Given the description of an element on the screen output the (x, y) to click on. 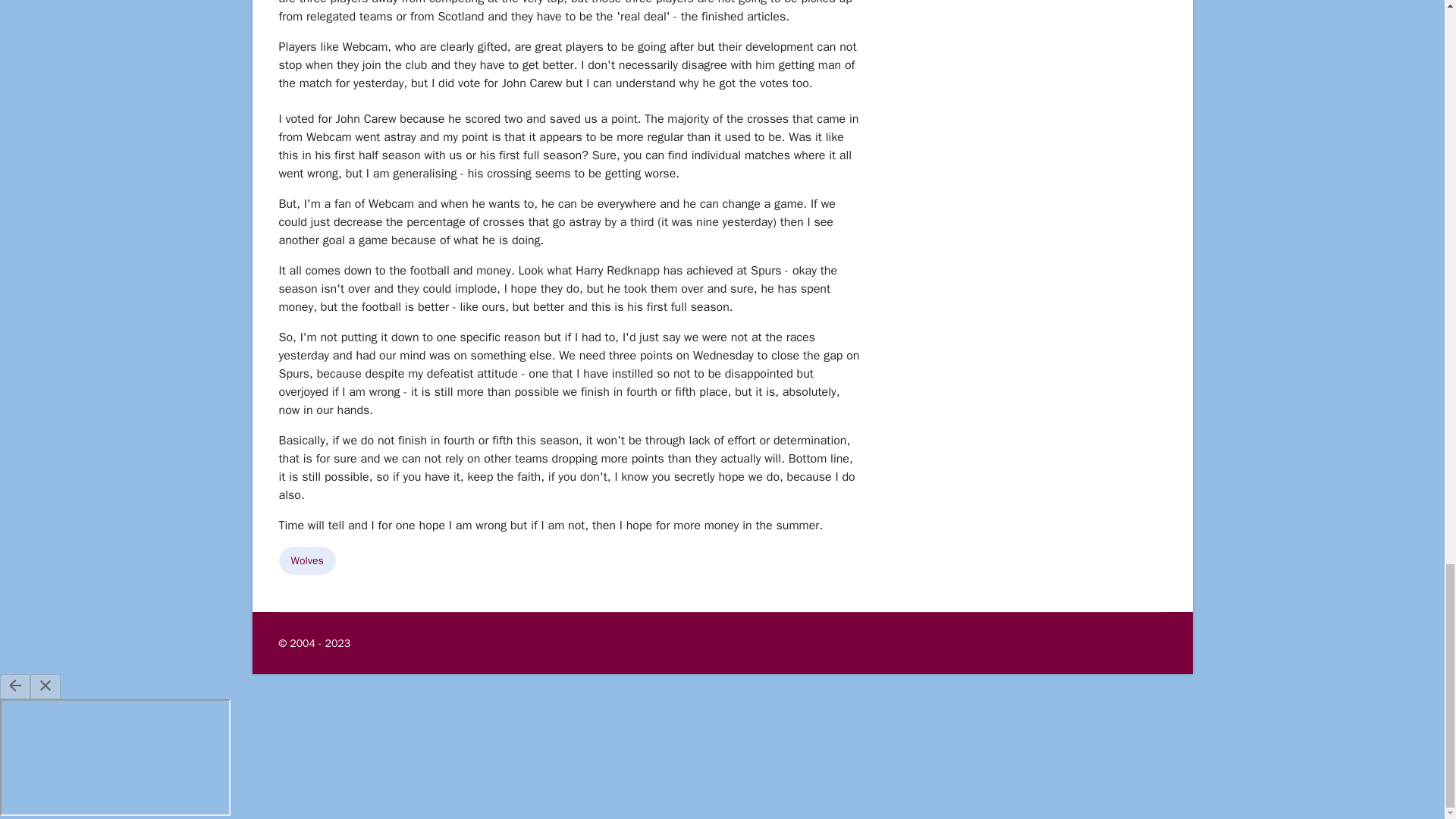
Wolves (307, 560)
Aston Villa AVFC Blog (399, 643)
The Aston Villa Blog (399, 643)
